Given the description of an element on the screen output the (x, y) to click on. 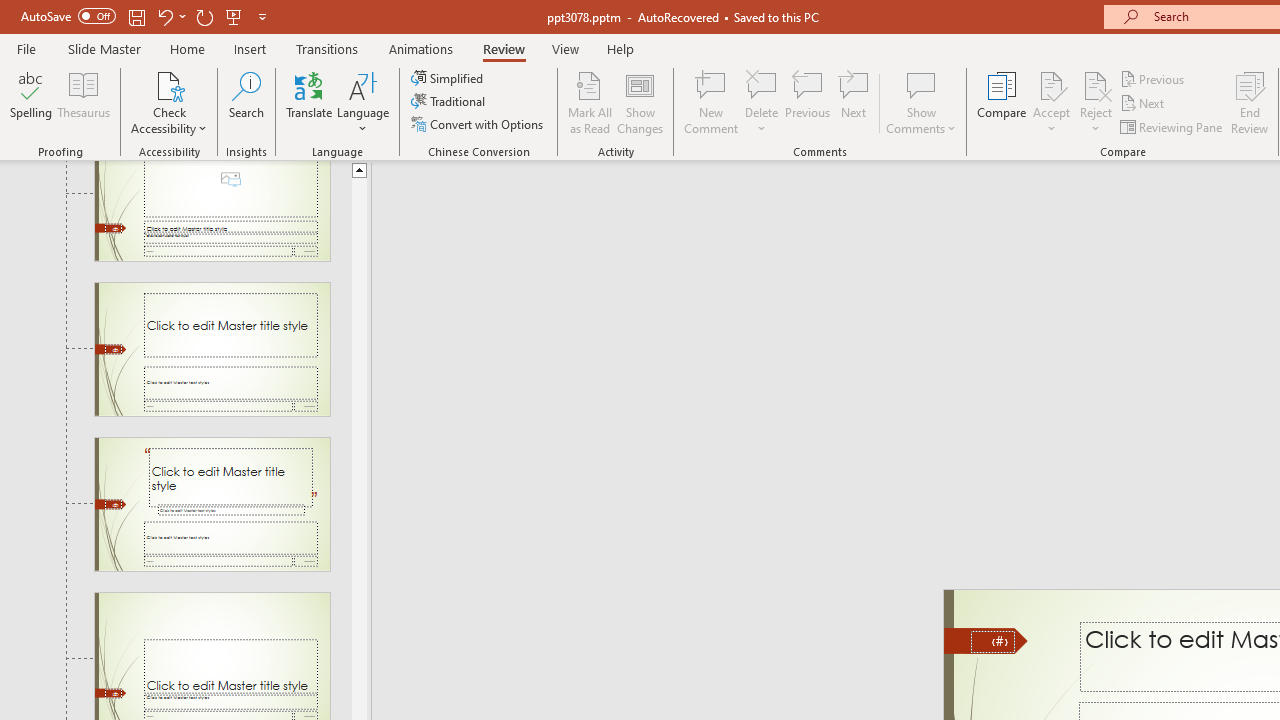
Slide Picture with Caption Layout: used by no slides (212, 210)
Freeform 11 (985, 640)
Slide Title and Caption Layout: used by no slides (212, 349)
